Given the description of an element on the screen output the (x, y) to click on. 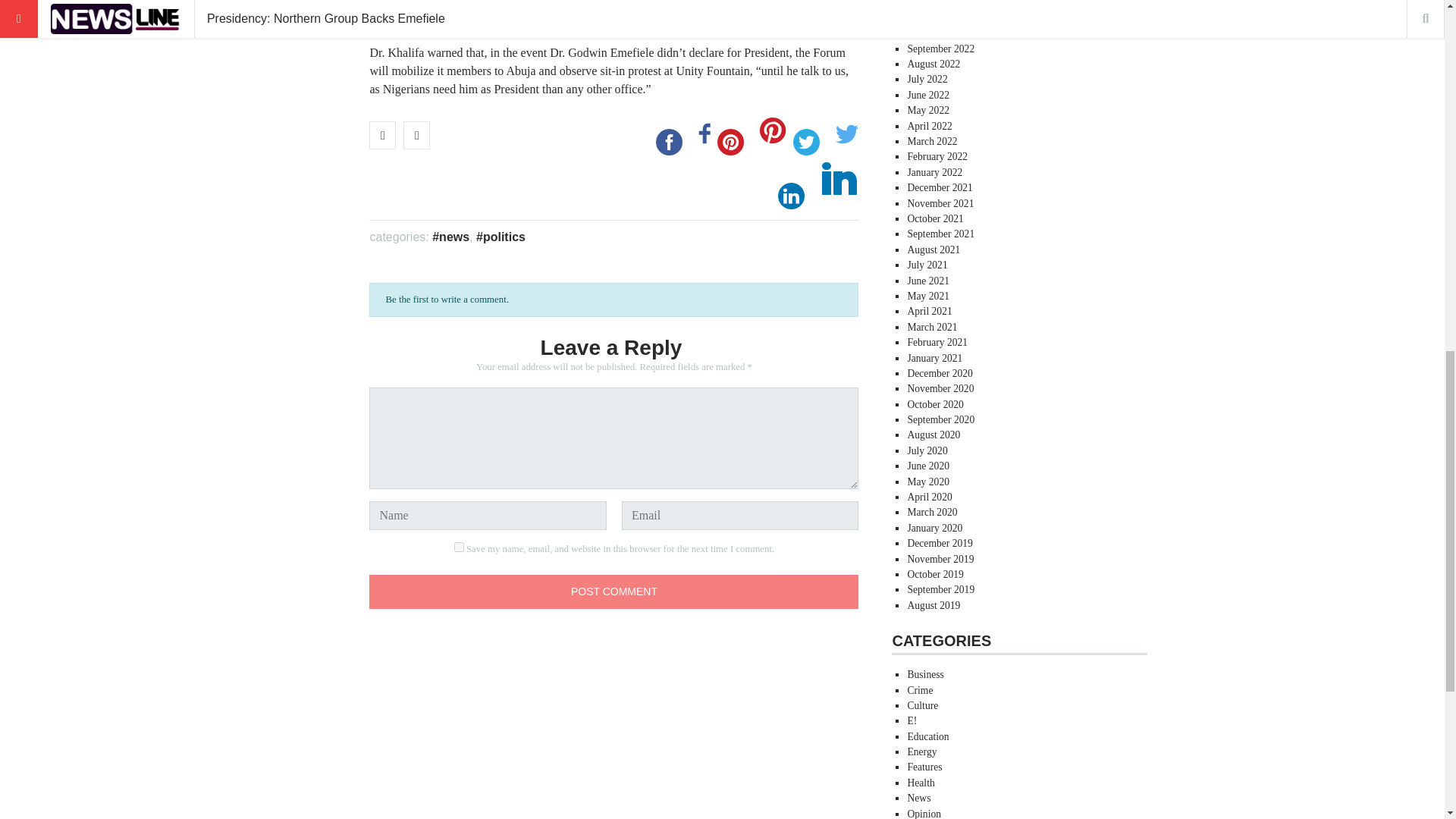
November 2021 (940, 203)
March 2022 (931, 141)
September 2022 (940, 48)
October 2022 (934, 32)
September 2021 (940, 233)
November 2022 (940, 17)
yes (459, 547)
politics (500, 236)
Post Comment (614, 591)
pinterest (730, 141)
